Given the description of an element on the screen output the (x, y) to click on. 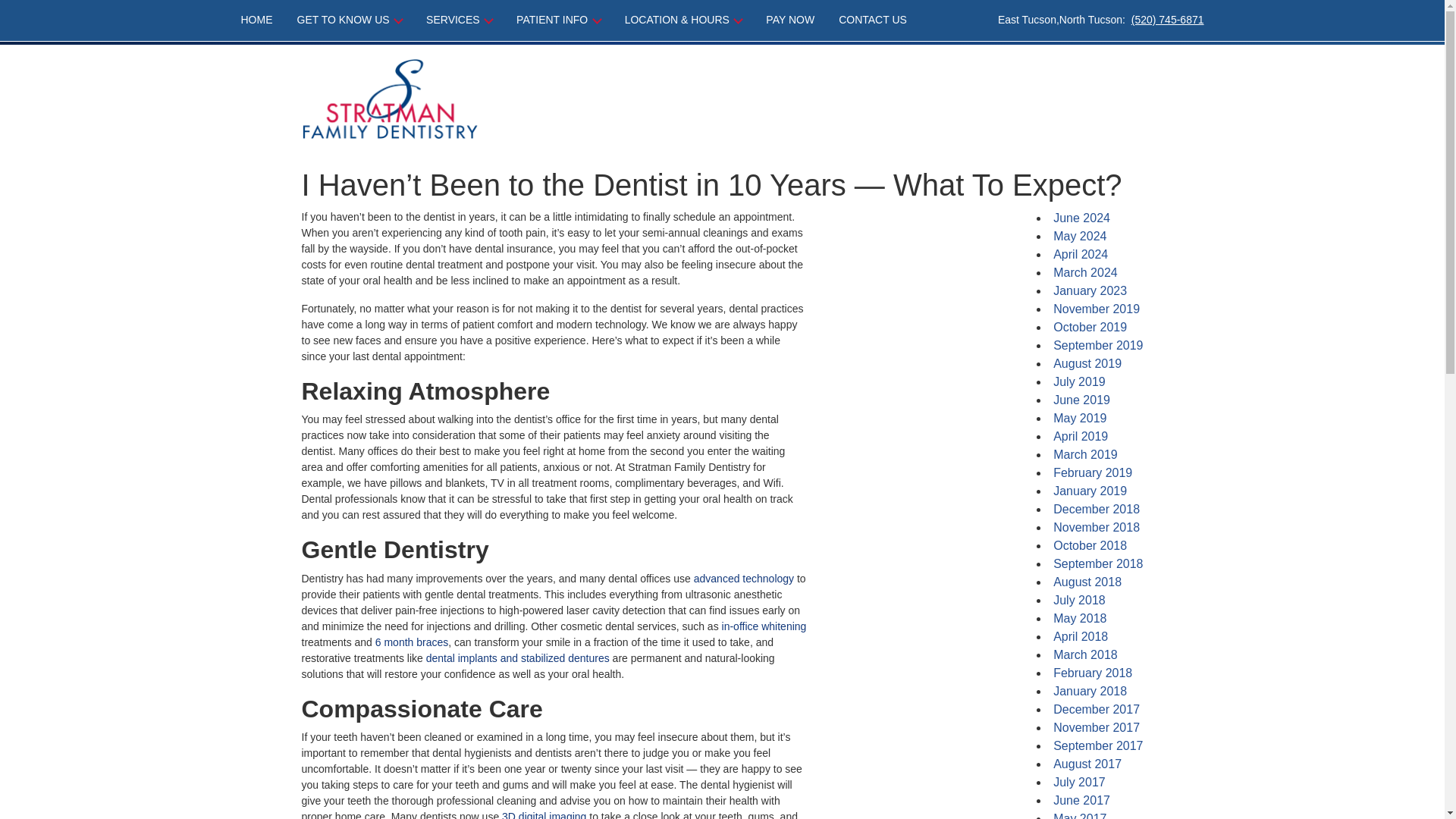
GET TO KNOW US (349, 19)
SERVICES (458, 19)
HOME (263, 19)
PATIENT INFO (557, 19)
